Given the description of an element on the screen output the (x, y) to click on. 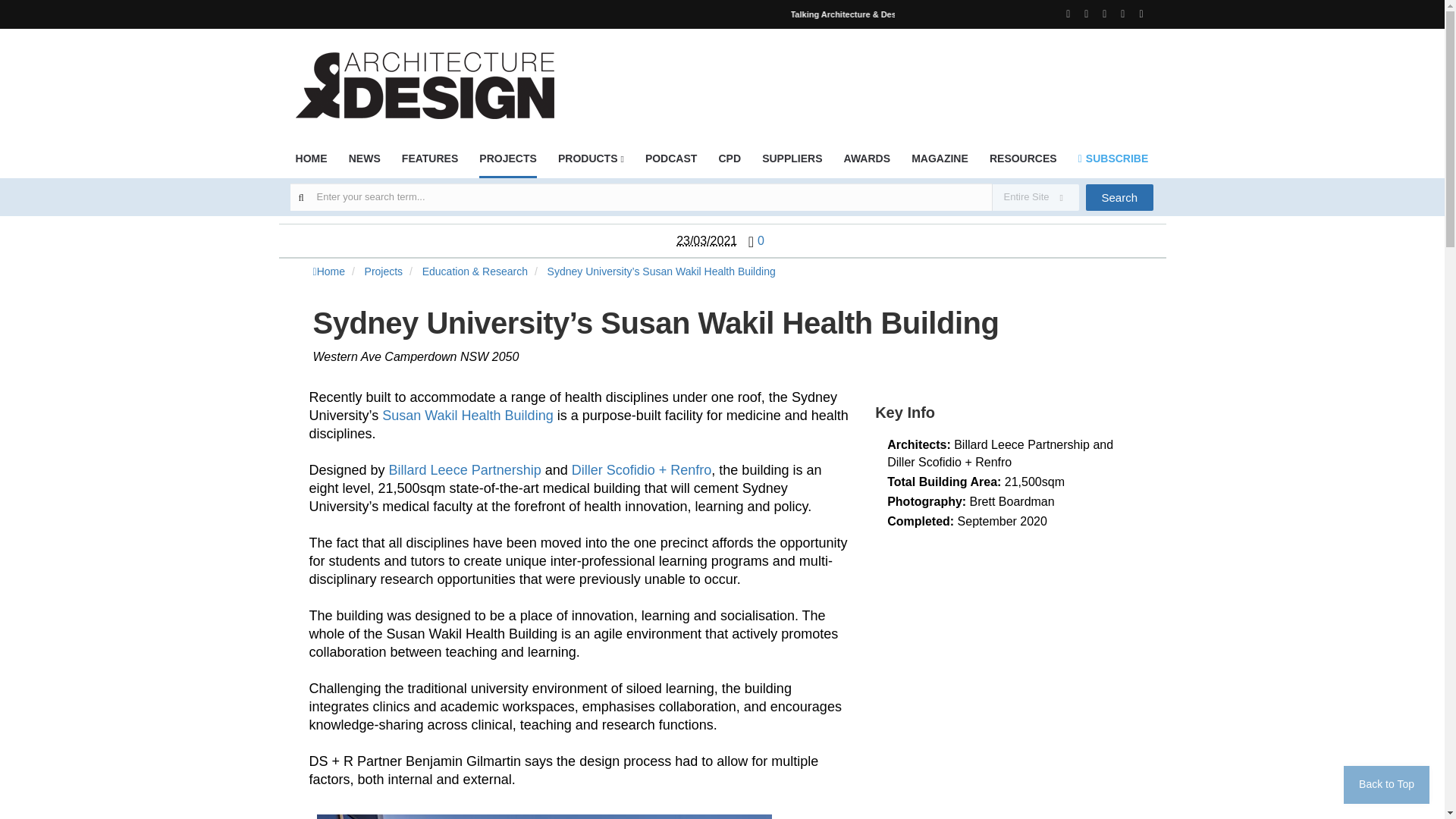
PROJECTS (507, 164)
HOME (311, 163)
3rd party ad content (876, 75)
PRODUCTS (590, 163)
NEWS (364, 163)
2021-03-23T03:09:06Z (706, 240)
FEATURES (429, 163)
